Given the description of an element on the screen output the (x, y) to click on. 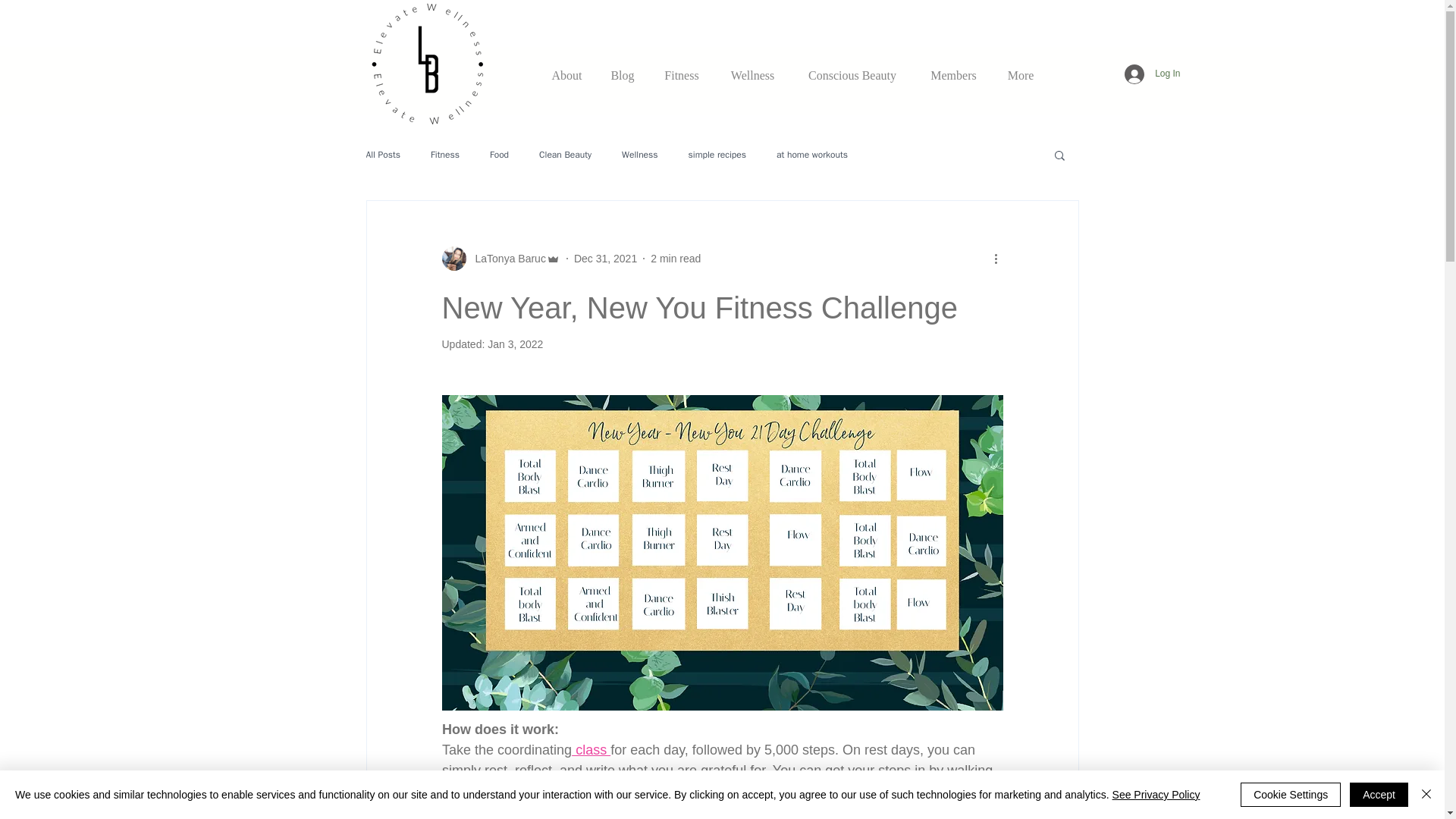
Fitness (680, 68)
Members (953, 68)
Jan 3, 2022 (515, 344)
About (566, 68)
Wellness (639, 154)
Blog (621, 68)
Food (498, 154)
Dec 31, 2021 (605, 257)
Clean Beauty (564, 154)
2 min read (675, 257)
LaTonya Baruc (504, 258)
Wellness (752, 68)
simple recipes (716, 154)
Log In (1152, 72)
 class  (591, 749)
